Given the description of an element on the screen output the (x, y) to click on. 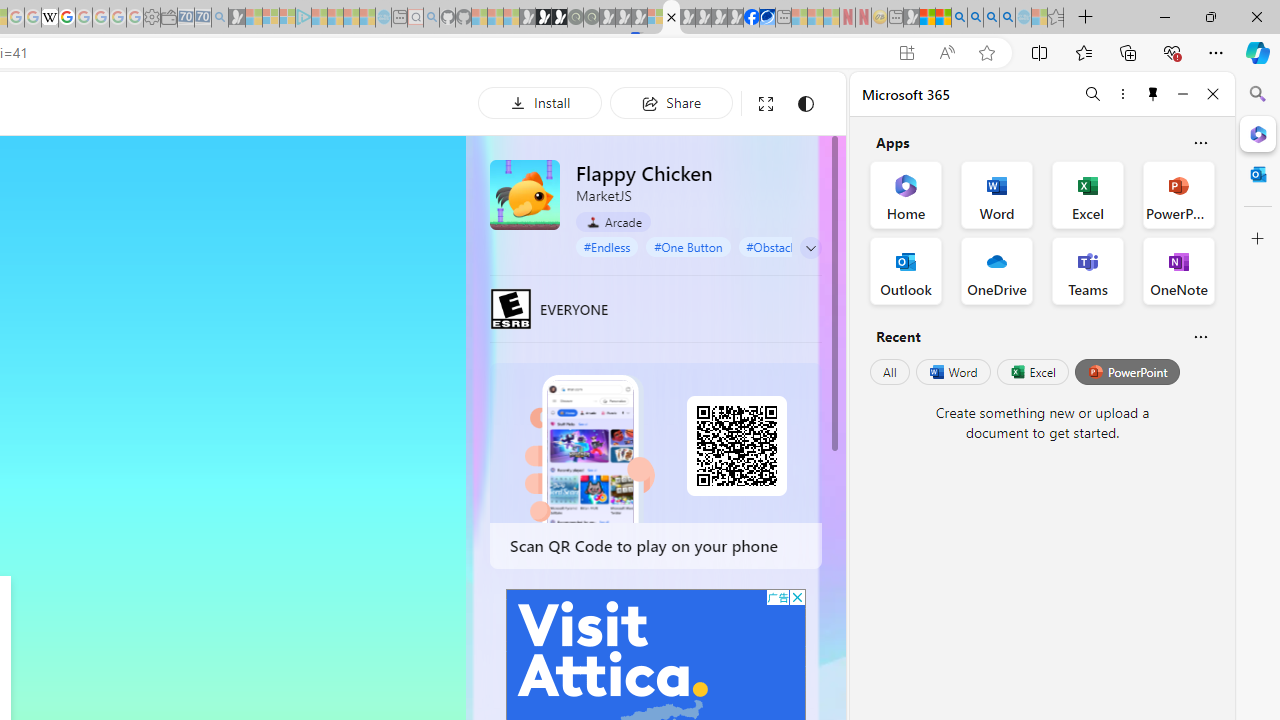
Favorites - Sleeping (1055, 17)
Bing AI - Search (959, 17)
OneNote Office App (1178, 270)
App available. Install Flappy Chicken (906, 53)
2009 Bing officially replaced Live Search on June 3 - Search (975, 17)
Arcade (613, 221)
Play Zoo Boom in your browser | Games from Microsoft Start (543, 17)
